Given the description of an element on the screen output the (x, y) to click on. 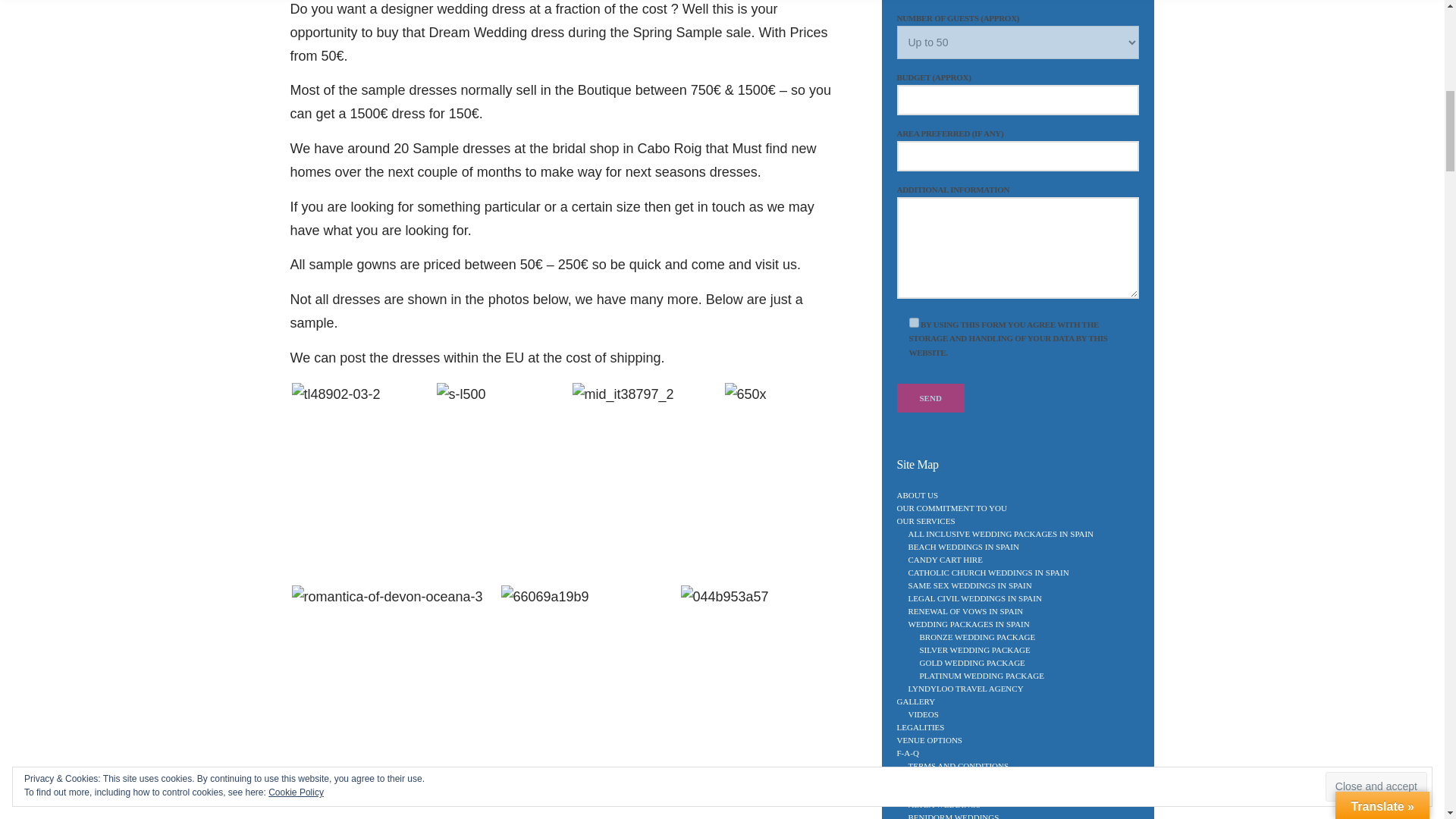
Send (929, 398)
1 (913, 322)
